Given the description of an element on the screen output the (x, y) to click on. 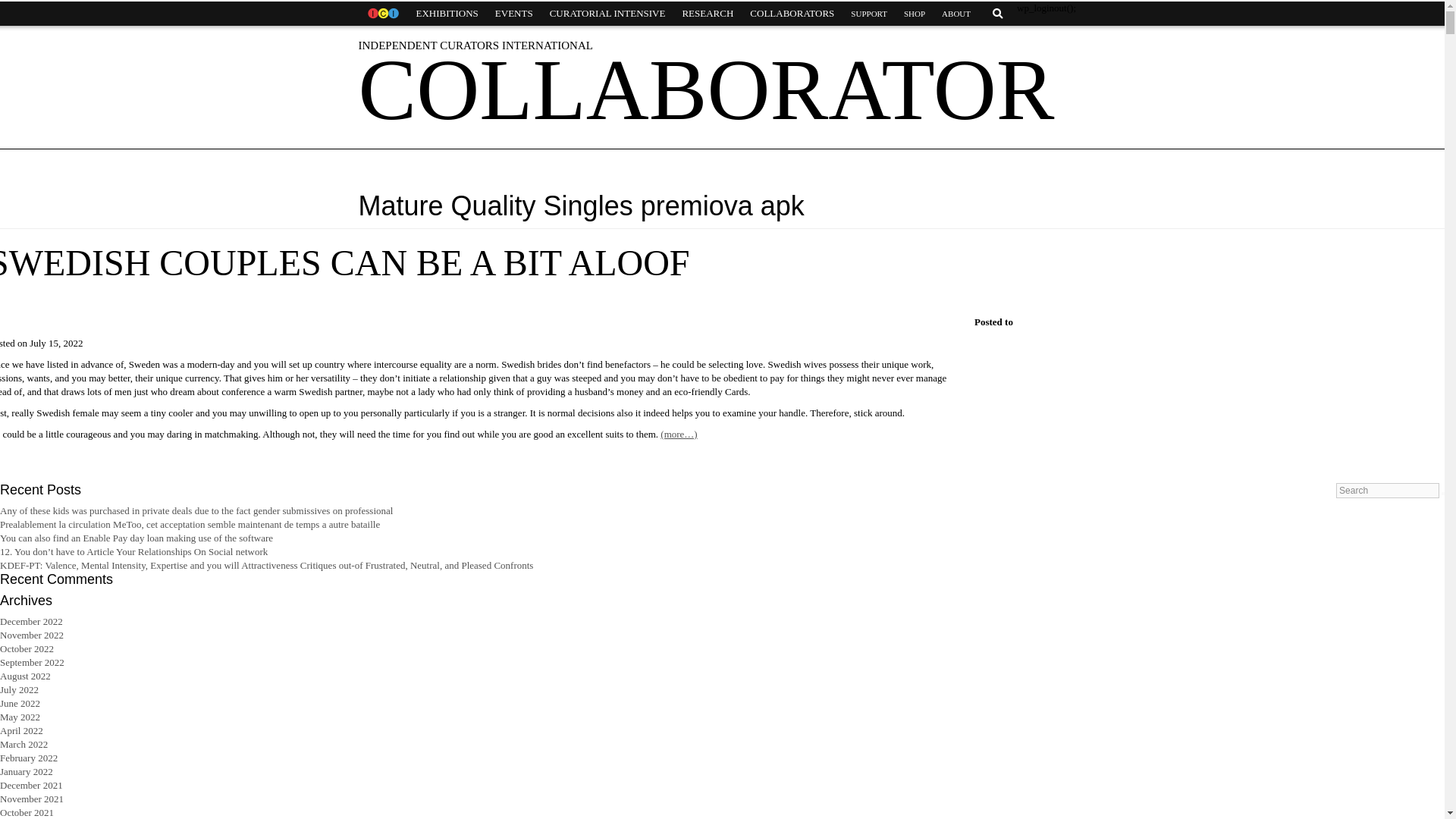
HOME (382, 13)
RESEARCH (706, 13)
EXHIBITIONS (446, 13)
EVENTS (513, 13)
COLLABORATORS (792, 13)
CURATORIAL INTENSIVE (607, 13)
